Given the description of an element on the screen output the (x, y) to click on. 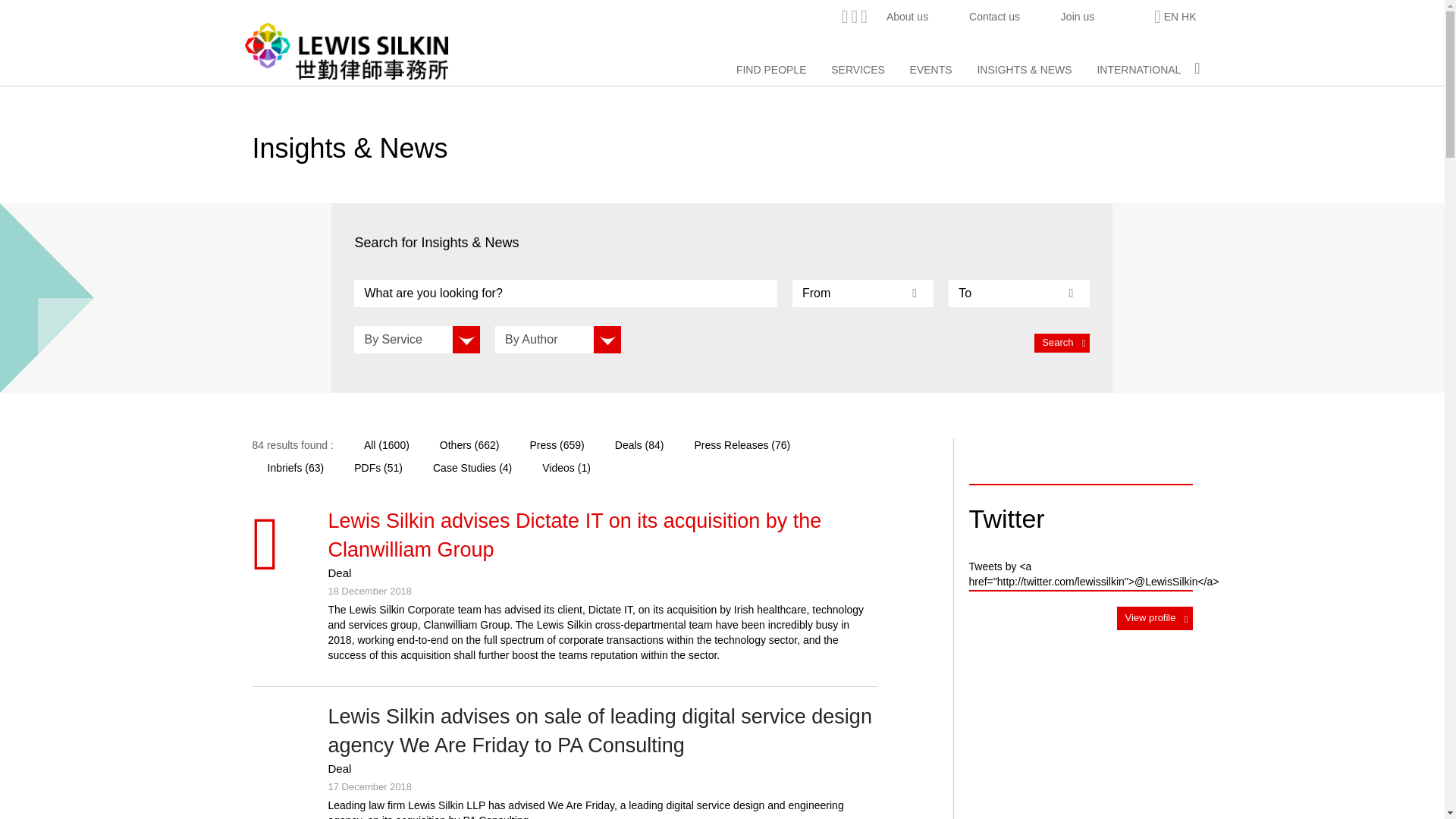
EN (1170, 16)
About us (907, 16)
Opens in a new tab (1134, 16)
Join us (1077, 16)
SERVICES (858, 69)
Search (1061, 342)
Contact us (993, 16)
HK (1187, 16)
FIND PEOPLE (771, 69)
INTERNATIONAL (1138, 69)
EVENTS (931, 69)
